Given the description of an element on the screen output the (x, y) to click on. 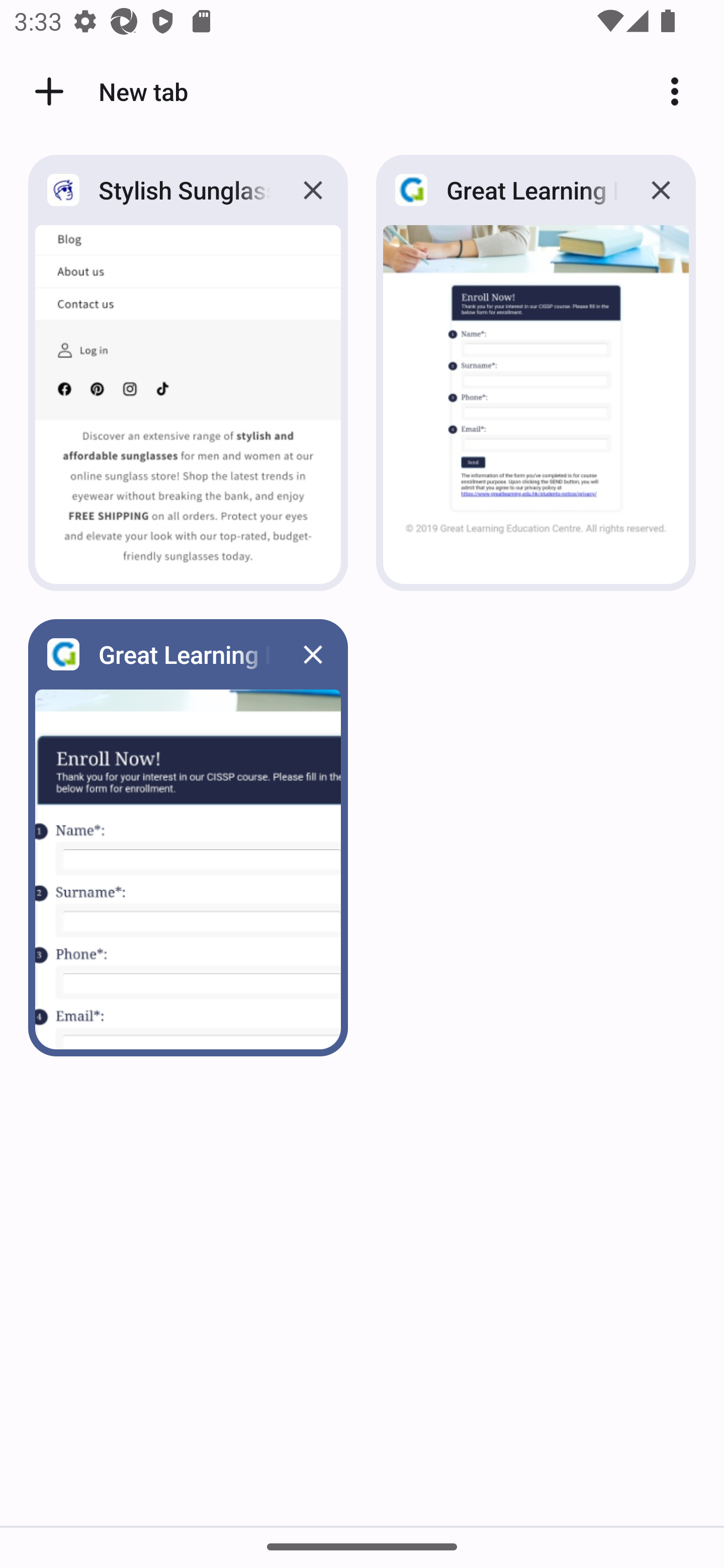
New tab (108, 91)
More options (681, 91)
More options (681, 91)
Close Great Learning Education Centre tab (660, 189)
Close Great Learning Education Centre tab (312, 653)
